Given the description of an element on the screen output the (x, y) to click on. 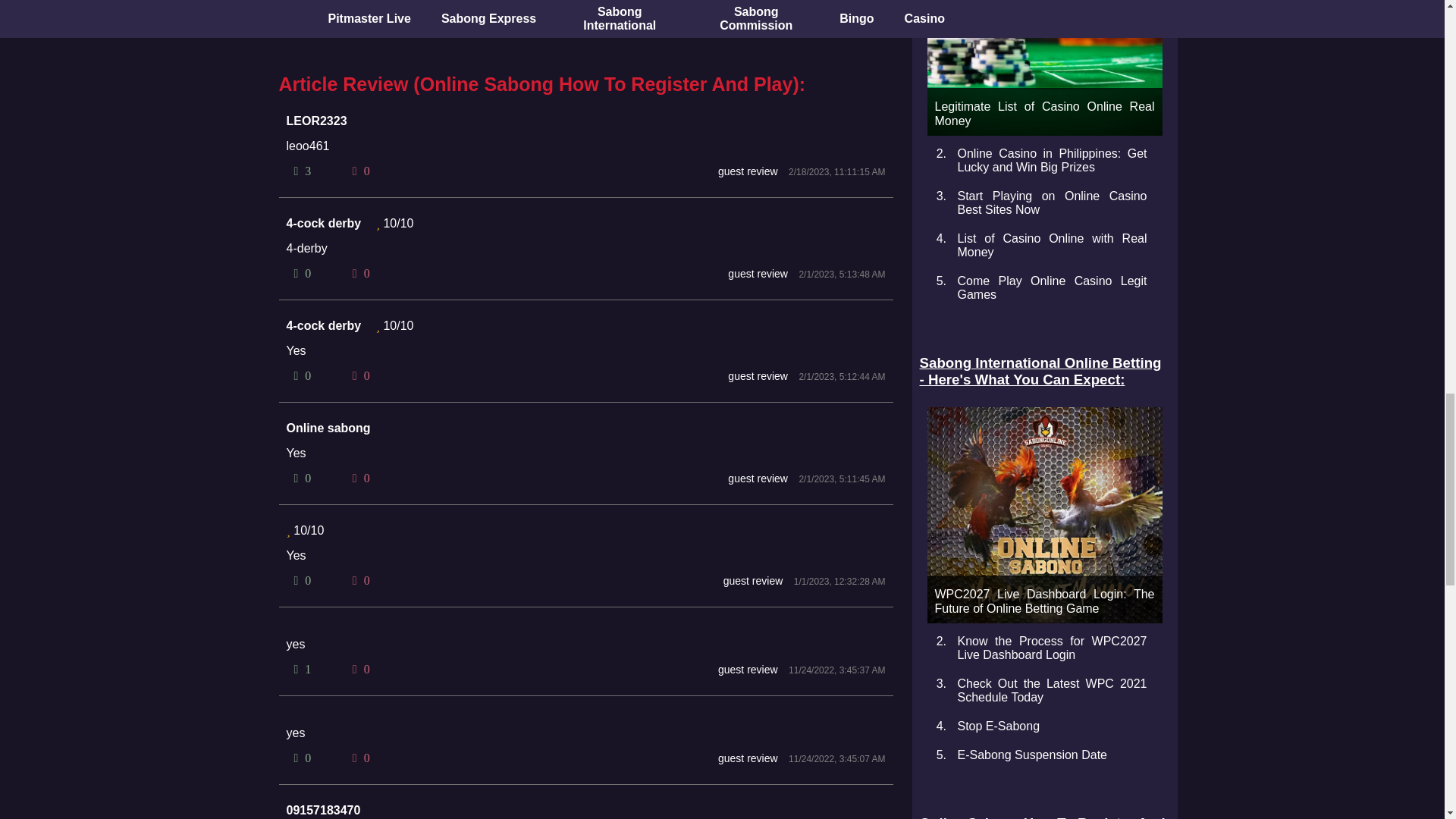
Stop E-Sabong (997, 725)
E-Sabong Suspension Date (1031, 754)
Legitimate List of Casino Online Real Money (1043, 67)
Know the Process for WPC2027 Live Dashboard Login (1051, 647)
Online Sabong How To Register And Play (1043, 816)
Come Play Online Casino Legit Games (1051, 287)
Online Casino in Philippines: Get Lucky and Win Big Prizes (1051, 160)
Check Out the Latest WPC 2021 Schedule Today (1051, 690)
Start Playing on Online Casino Best Sites Now (1051, 202)
List of Casino Online with Real Money (1051, 244)
Legitimate List of Casino Online Real Money (1043, 67)
